Given the description of an element on the screen output the (x, y) to click on. 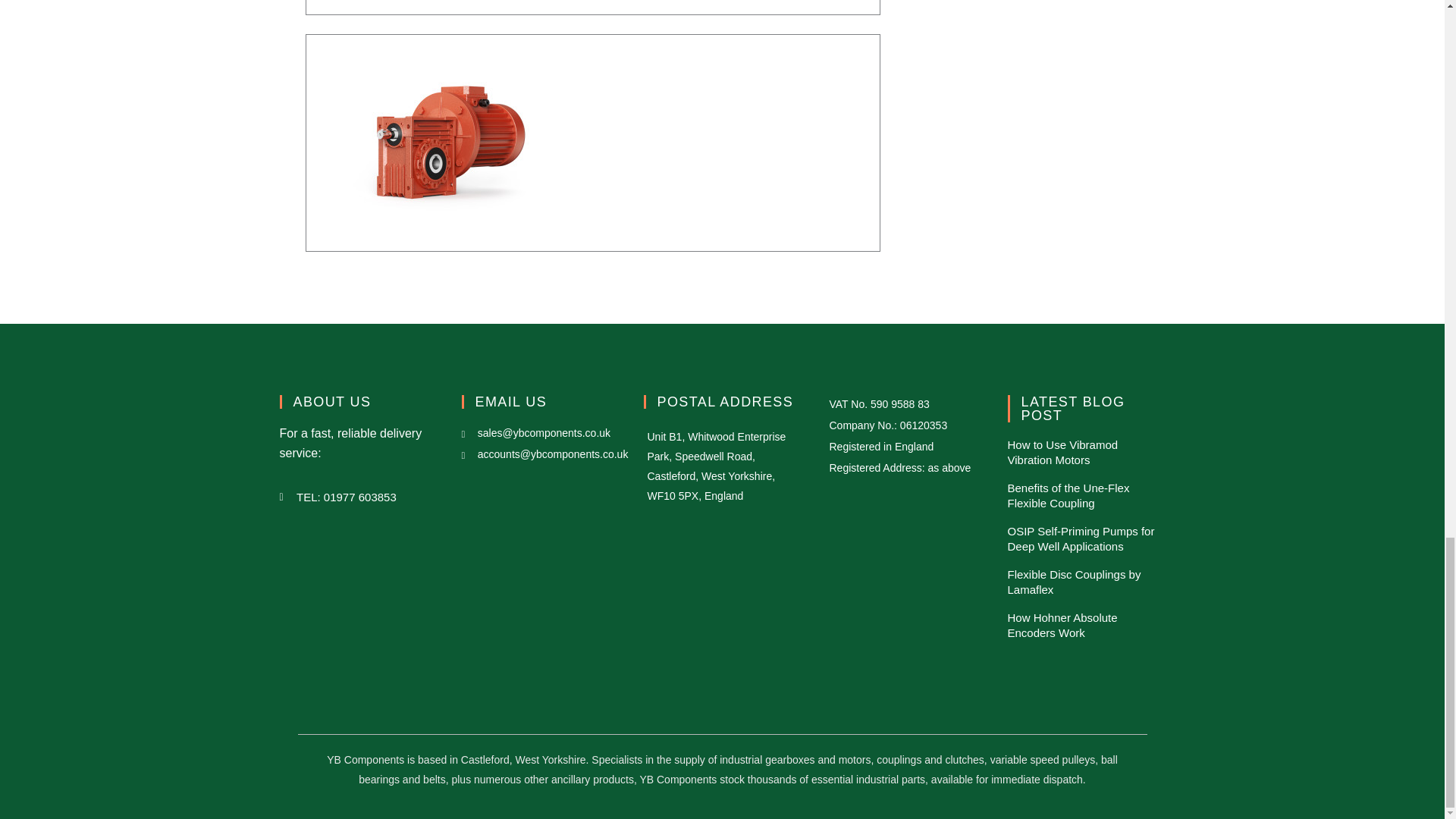
TEL: 01977 603853 (357, 496)
